Given the description of an element on the screen output the (x, y) to click on. 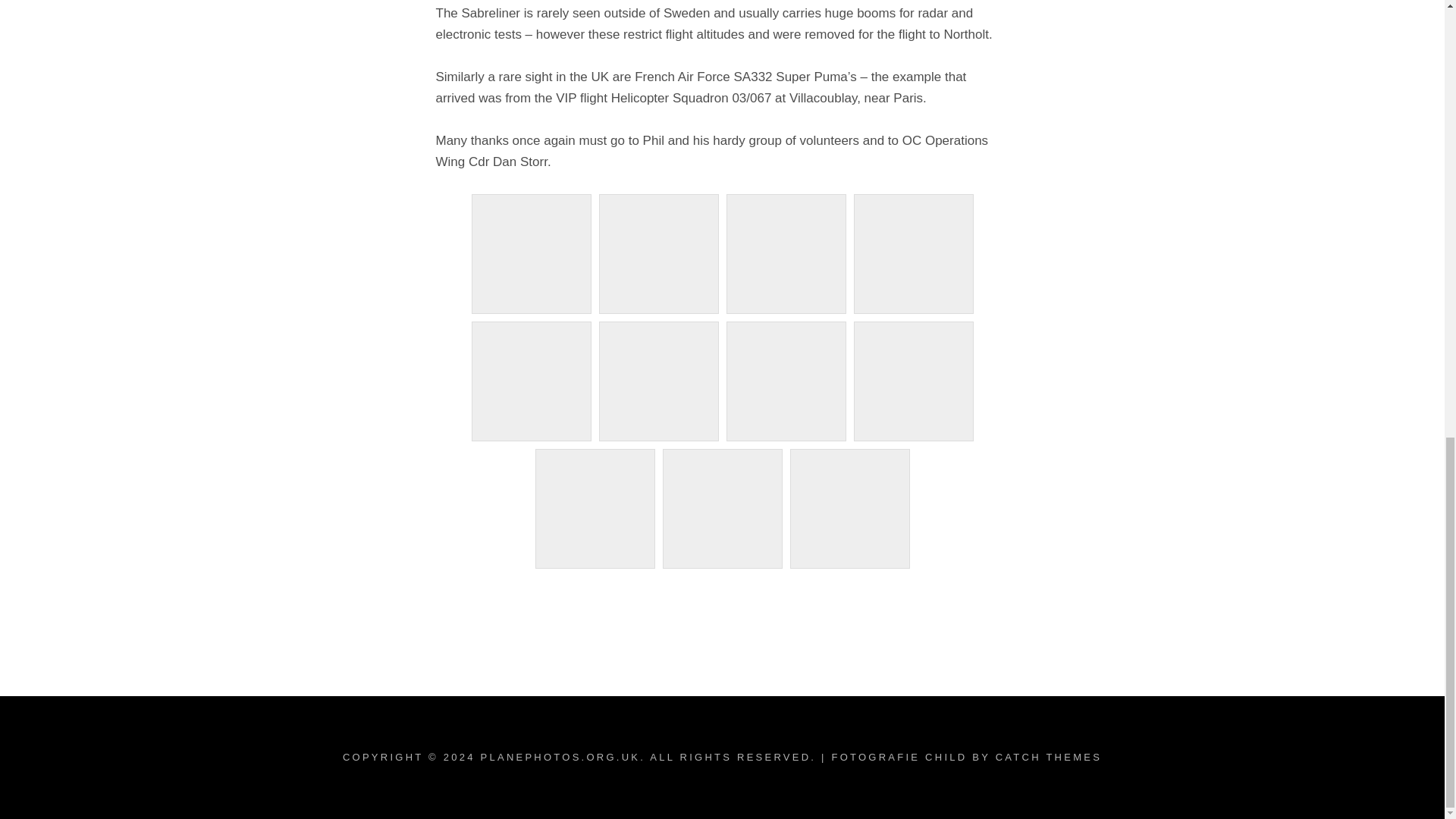
CATCH THEMES (1048, 756)
PLANEPHOTOS.ORG.UK (560, 756)
